Given the description of an element on the screen output the (x, y) to click on. 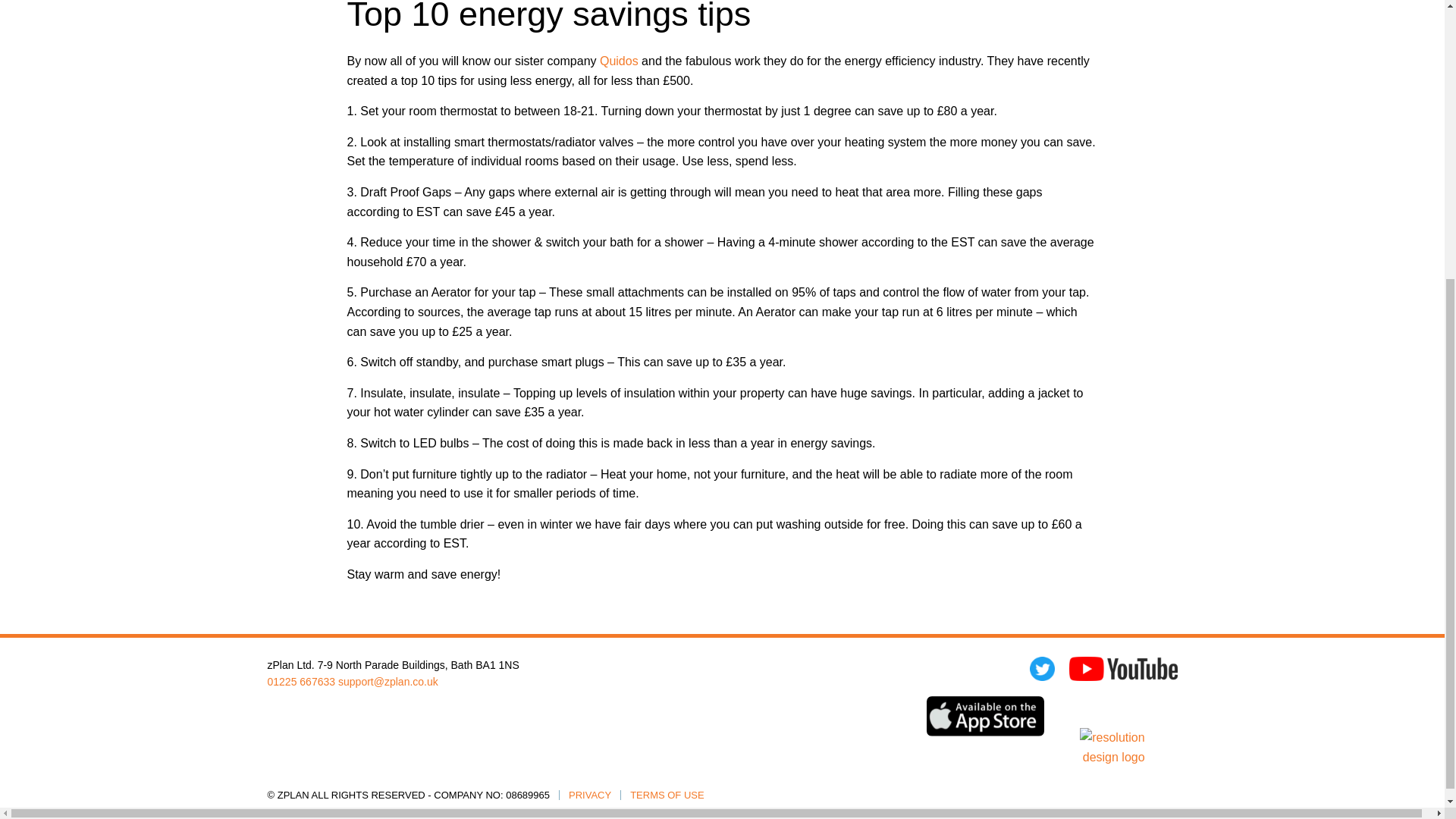
PRIVACY (589, 795)
01225 667633 (300, 681)
TERMS OF USE (666, 795)
Quidos (619, 61)
